Given the description of an element on the screen output the (x, y) to click on. 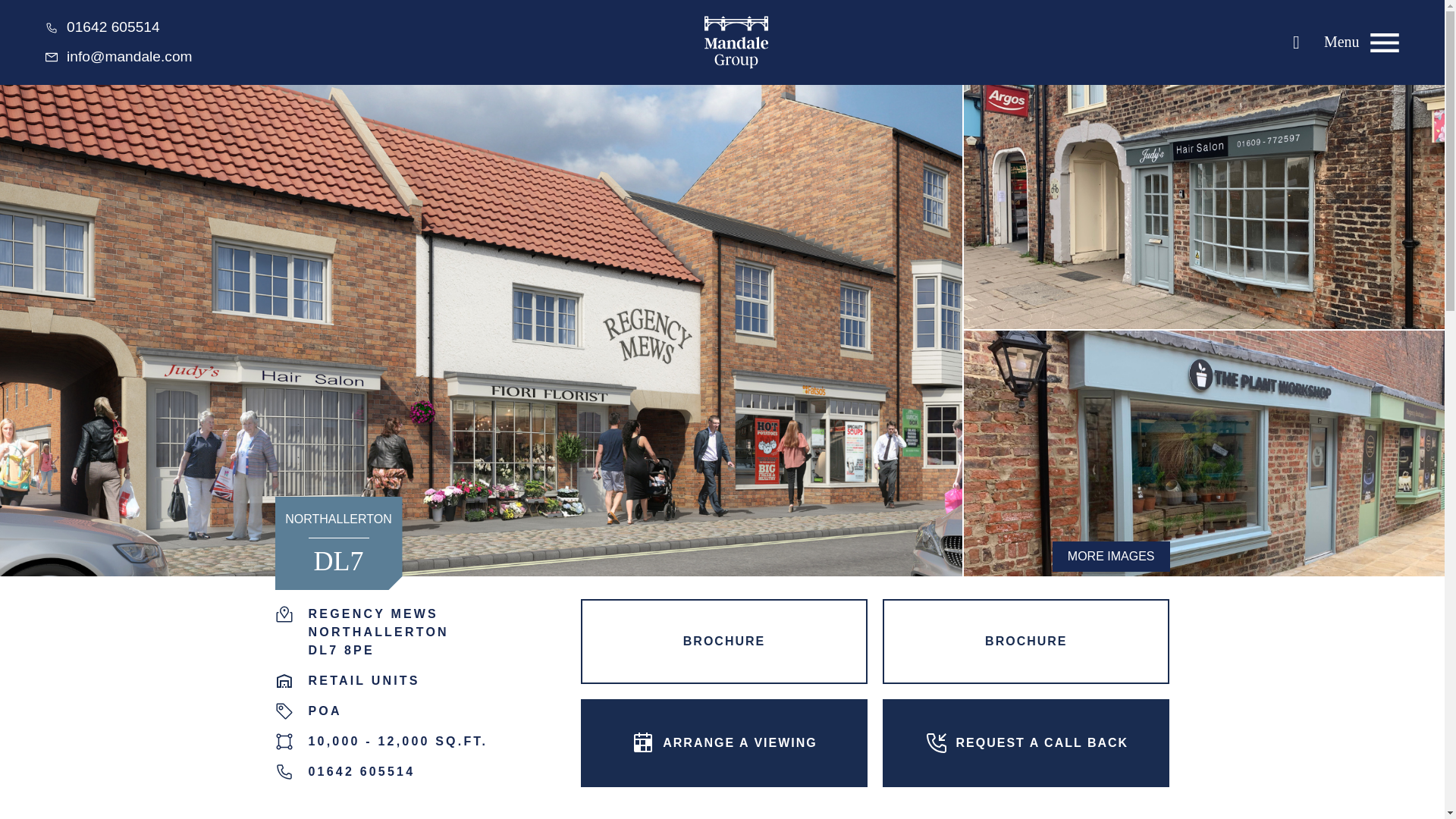
01642 605514 (102, 27)
